Given the description of an element on the screen output the (x, y) to click on. 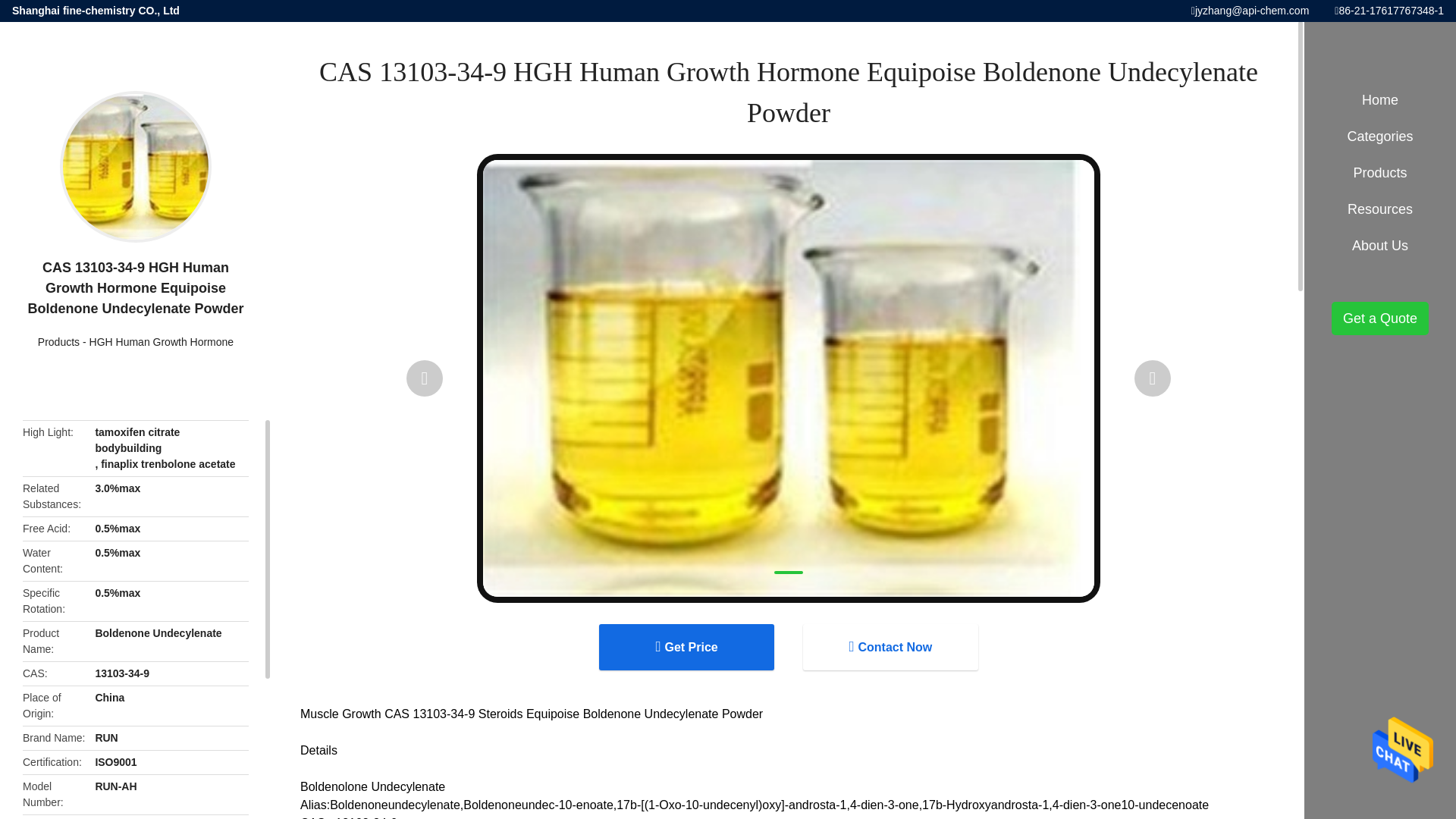
Categories (1379, 135)
Products (58, 341)
Products (58, 341)
Home (1379, 99)
Get Price (685, 647)
HGH Human Growth Hormone (161, 341)
China HGH Human Growth Hormone Manufacturers (161, 341)
Contact Now (889, 647)
